Given the description of an element on the screen output the (x, y) to click on. 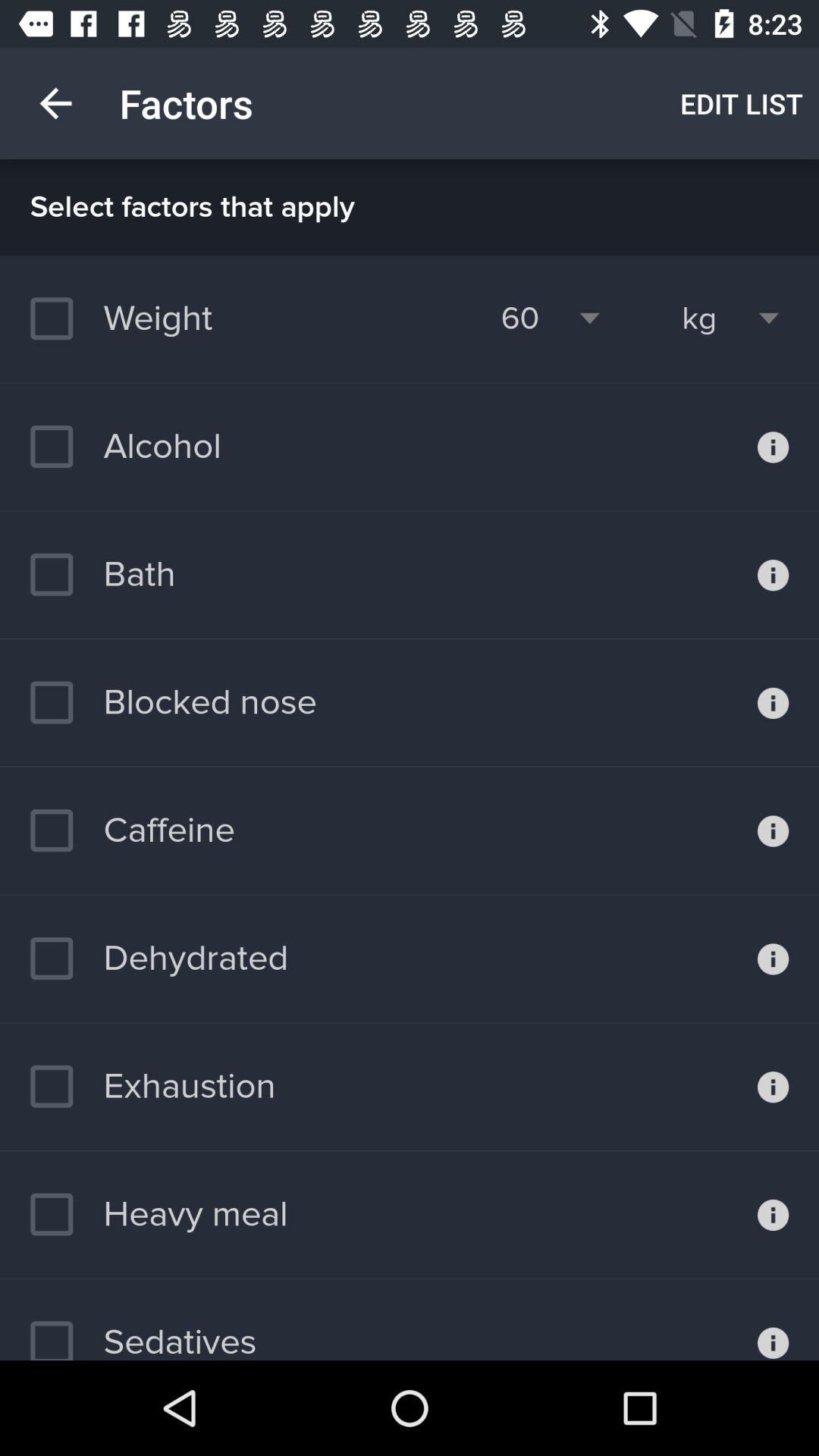
open information (773, 830)
